Given the description of an element on the screen output the (x, y) to click on. 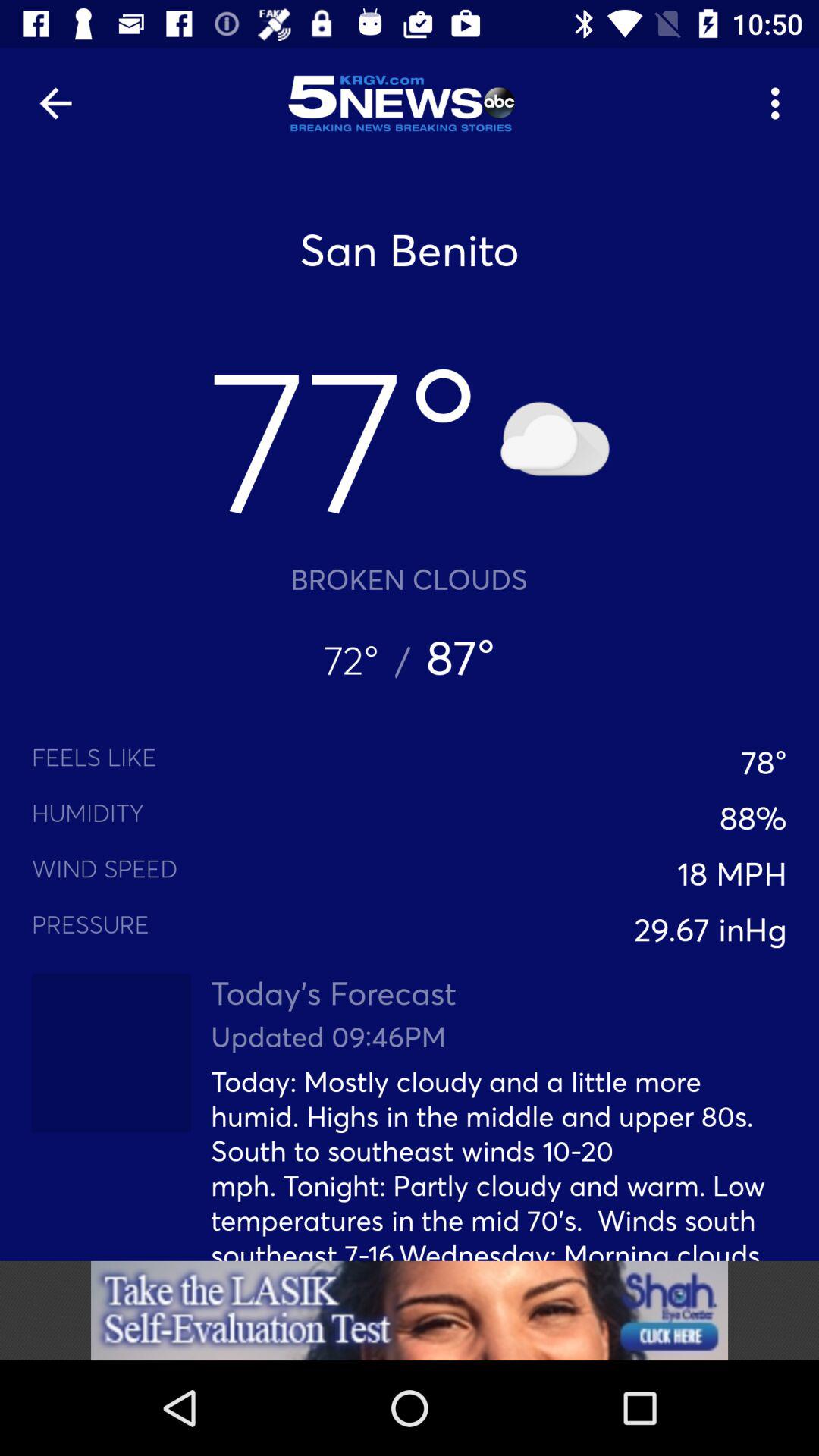
open advertisement (409, 1310)
